Given the description of an element on the screen output the (x, y) to click on. 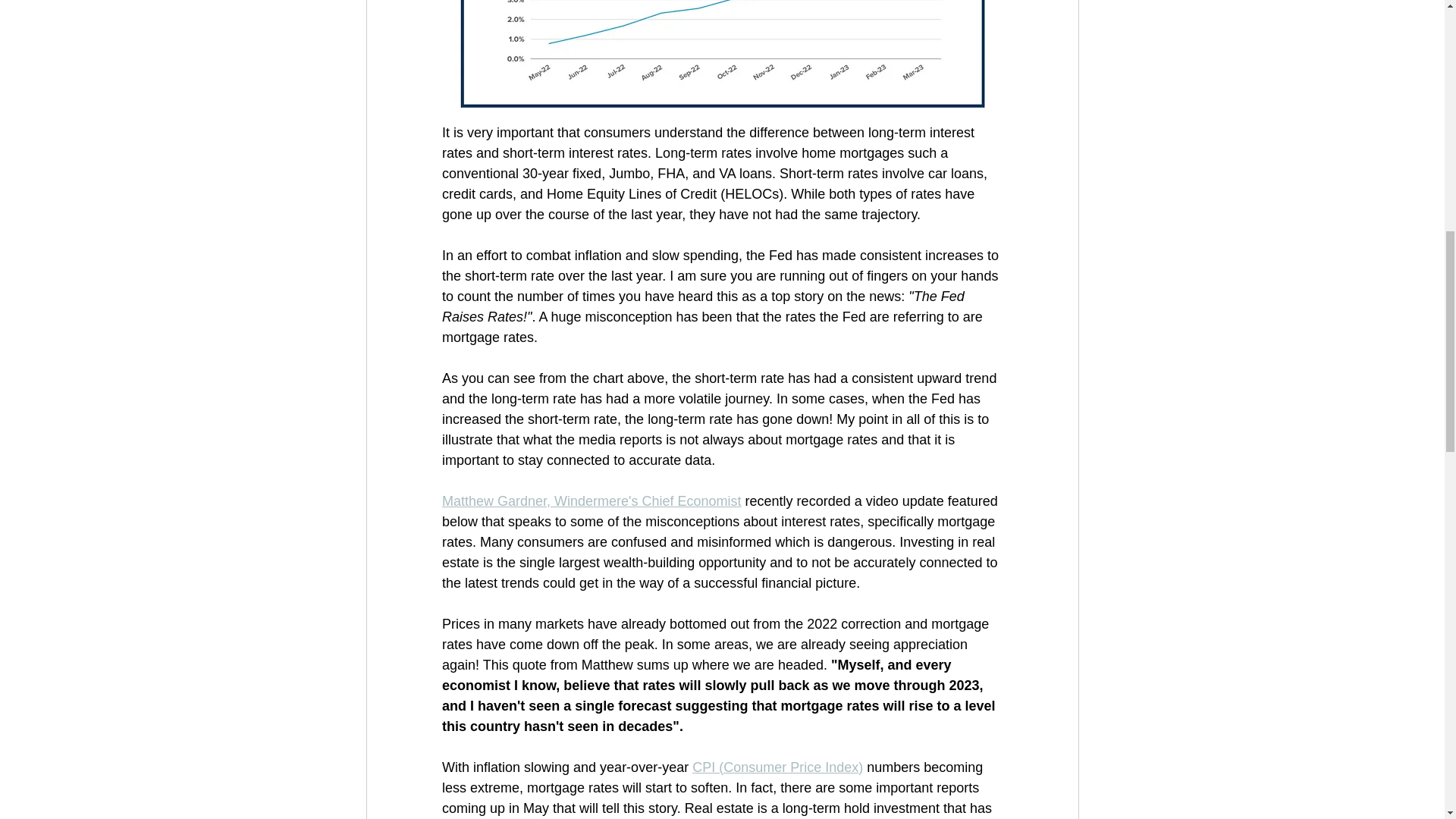
Matthew Gardner, Windermere's Chief Economist (591, 500)
